Given the description of an element on the screen output the (x, y) to click on. 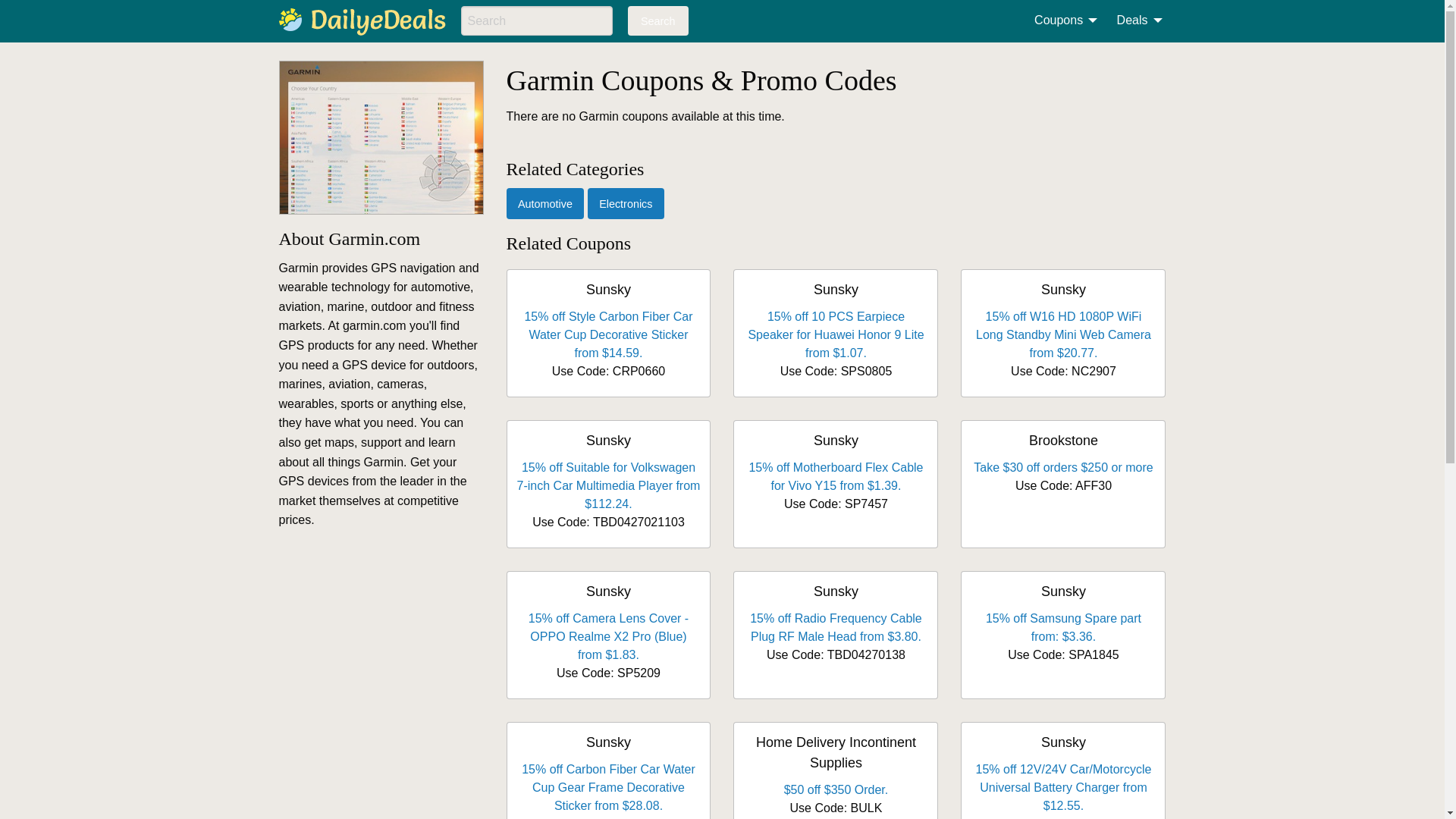
Search (657, 20)
Electronics (625, 203)
Brookstone (1063, 440)
Search (657, 20)
Automotive (545, 203)
Deals (1135, 20)
Brookstone Coupons (1063, 440)
Coupons (1061, 20)
